Given the description of an element on the screen output the (x, y) to click on. 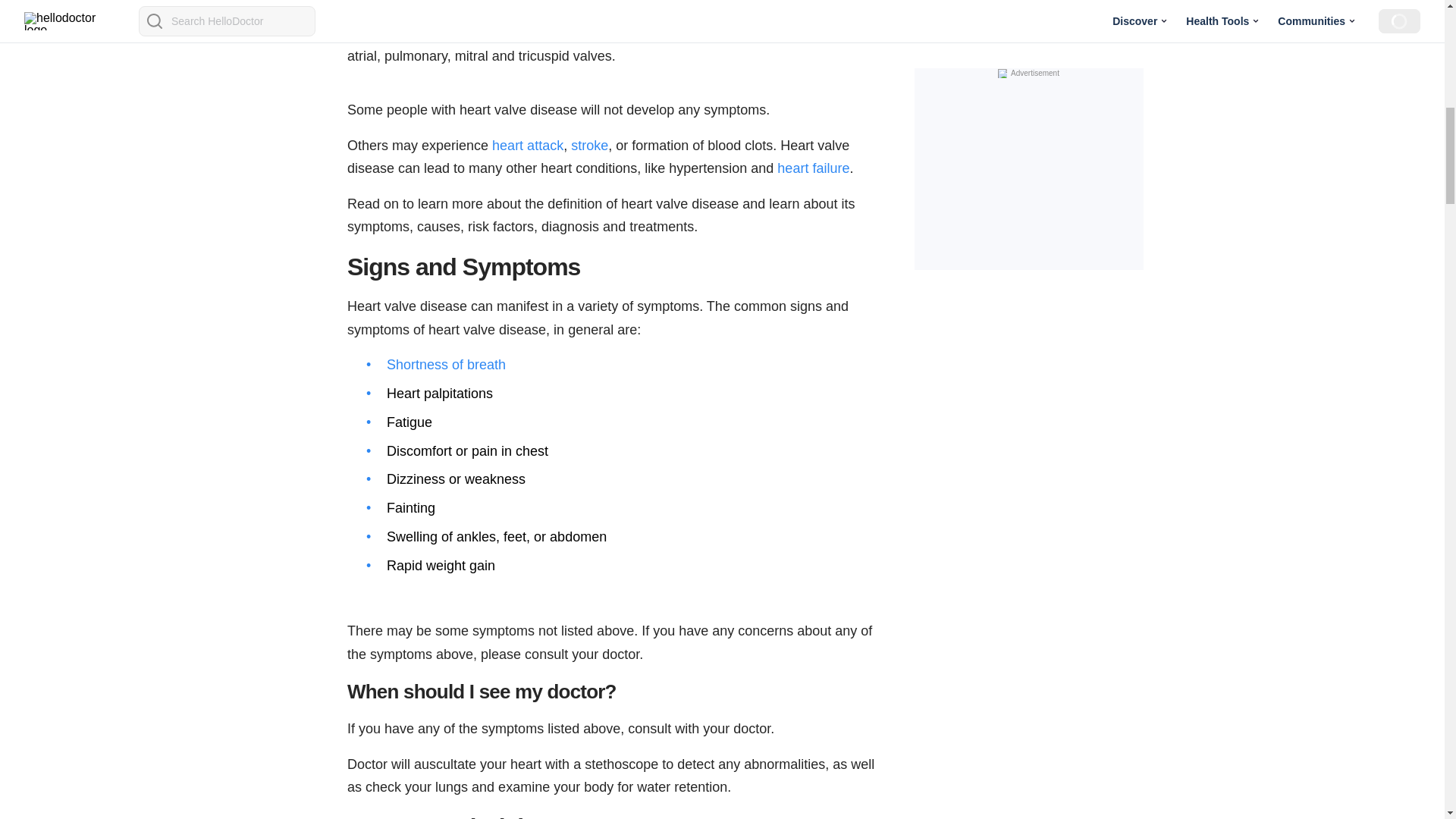
Warning Signs and Symptoms of Heart Failure (812, 168)
Stroke: All You Need to Know (589, 144)
Warning Signs of a Heart Attack (527, 144)
